Given the description of an element on the screen output the (x, y) to click on. 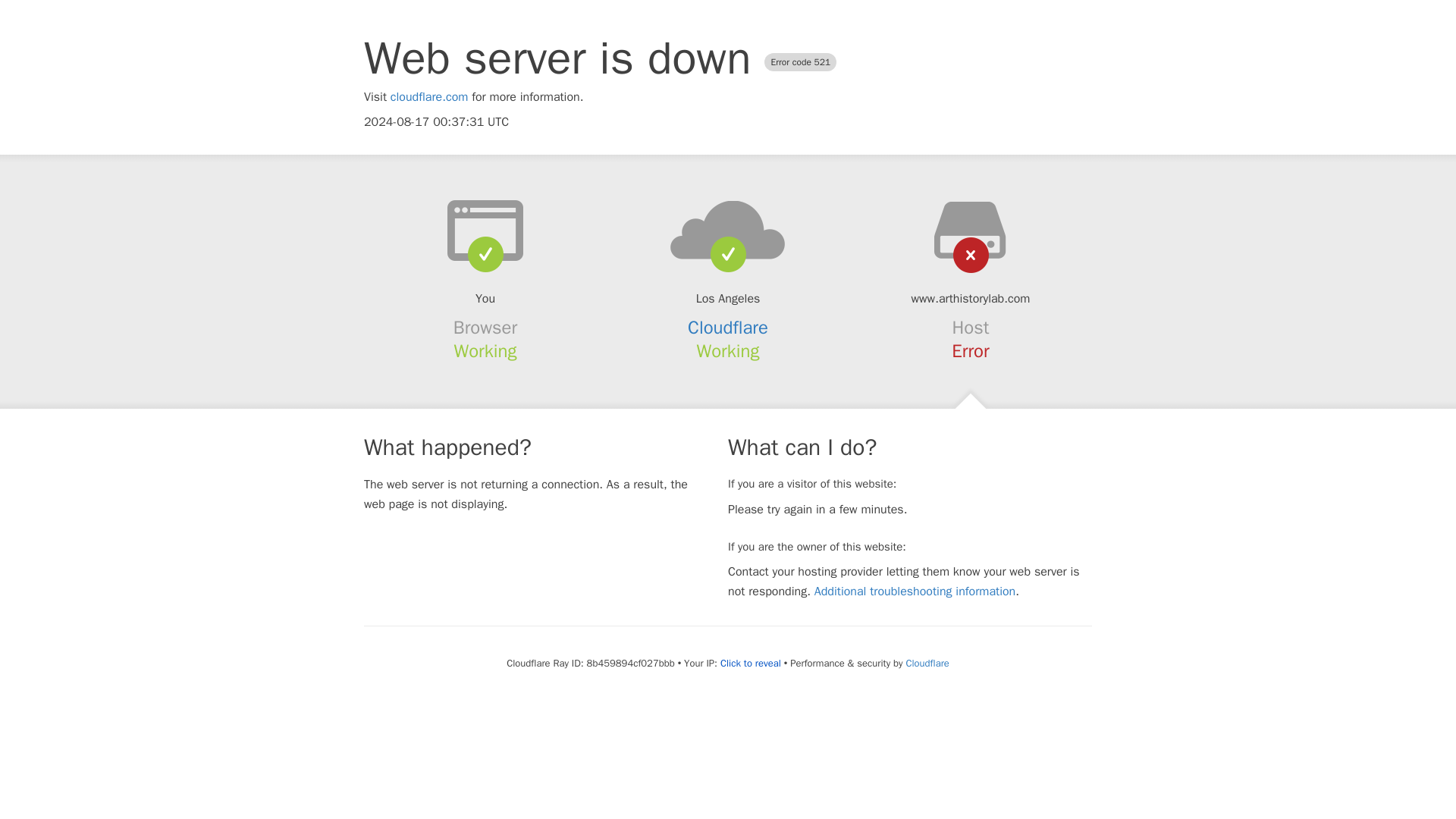
cloudflare.com (429, 96)
Additional troubleshooting information (913, 590)
Cloudflare (727, 327)
Click to reveal (750, 663)
Cloudflare (927, 662)
